Given the description of an element on the screen output the (x, y) to click on. 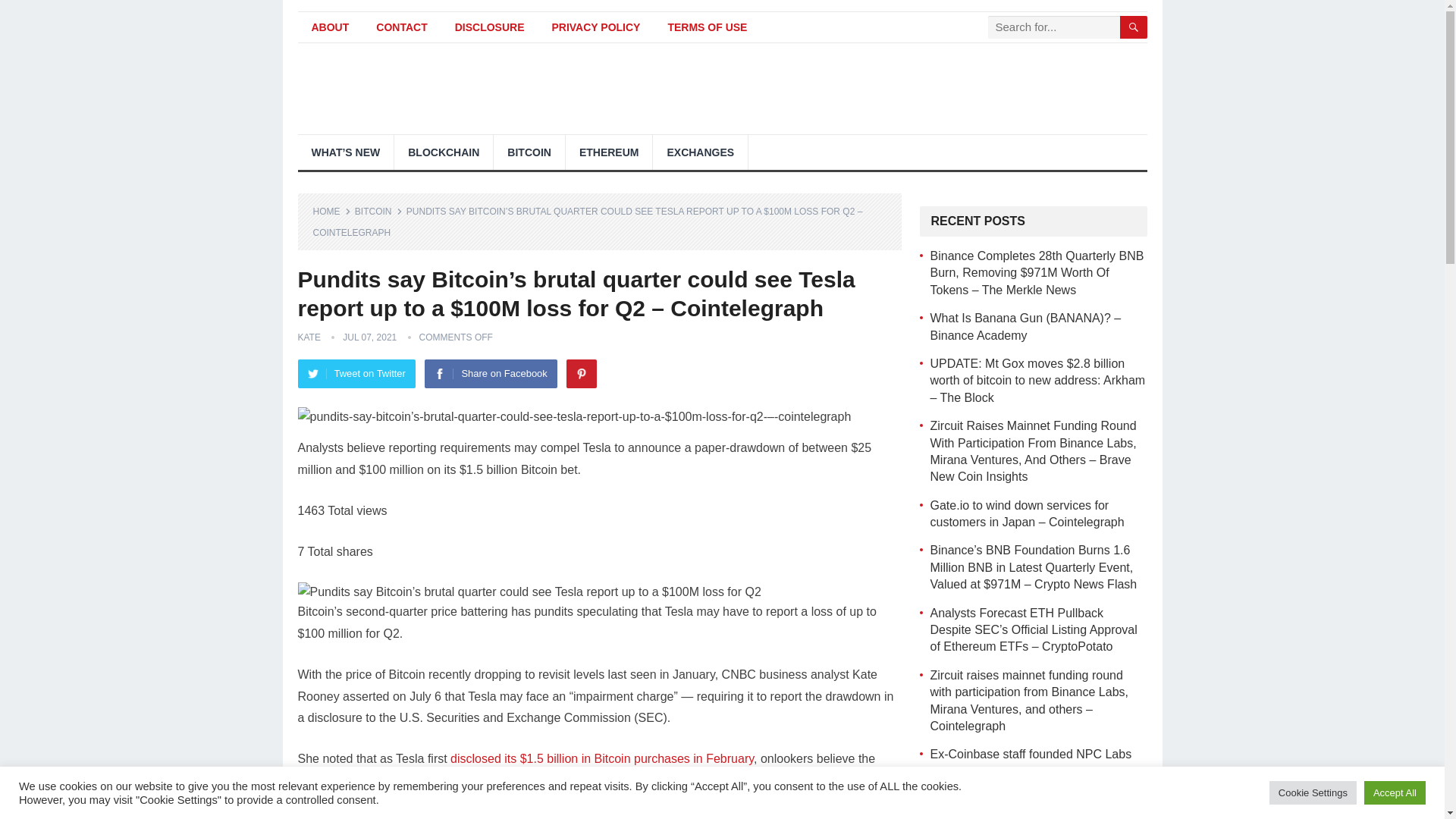
TERMS OF USE (706, 27)
HOME (331, 211)
CONTACT (401, 27)
BITCOIN (379, 211)
PRIVACY POLICY (595, 27)
EXCHANGES (700, 152)
ABOUT (329, 27)
BITCOIN (528, 152)
Posts by Kate (308, 337)
Pinterest (581, 373)
Tweet on Twitter (355, 373)
KATE (308, 337)
BLOCKCHAIN (443, 152)
DISCLOSURE (489, 27)
ETHEREUM (609, 152)
